Given the description of an element on the screen output the (x, y) to click on. 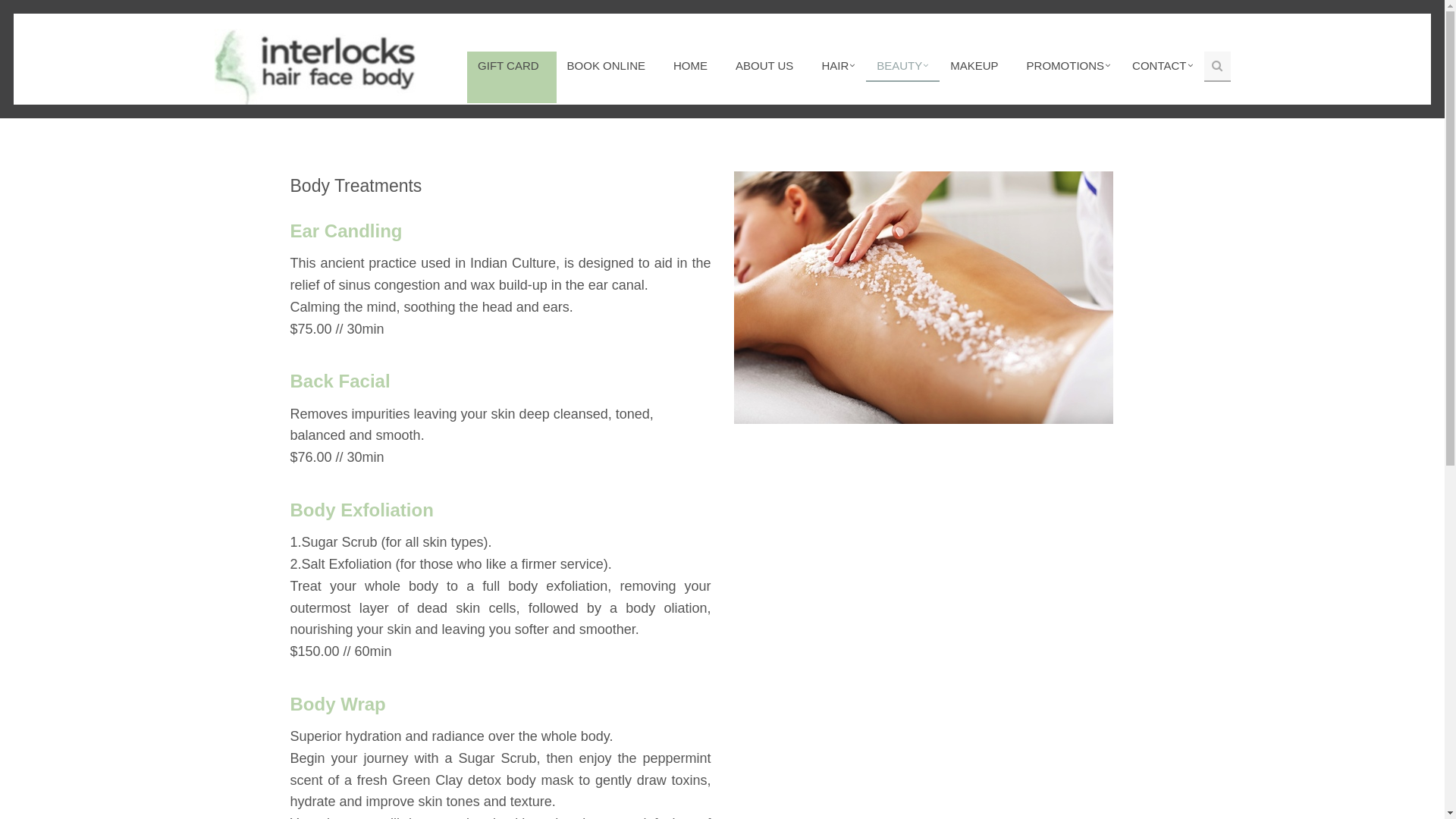
BOOK ONLINE Element type: text (609, 66)
ABOUT US Element type: text (767, 66)
PROMOTIONS Element type: text (1069, 66)
CONTACT Element type: text (1162, 66)
BEAUTY Element type: text (902, 66)
HOME Element type: text (693, 66)
GIFT CARD Element type: text (511, 65)
MAKEUP Element type: text (977, 66)
interlocks hair face body Largs Bay Element type: hover (313, 66)
HAIR Element type: text (838, 66)
